Given the description of an element on the screen output the (x, y) to click on. 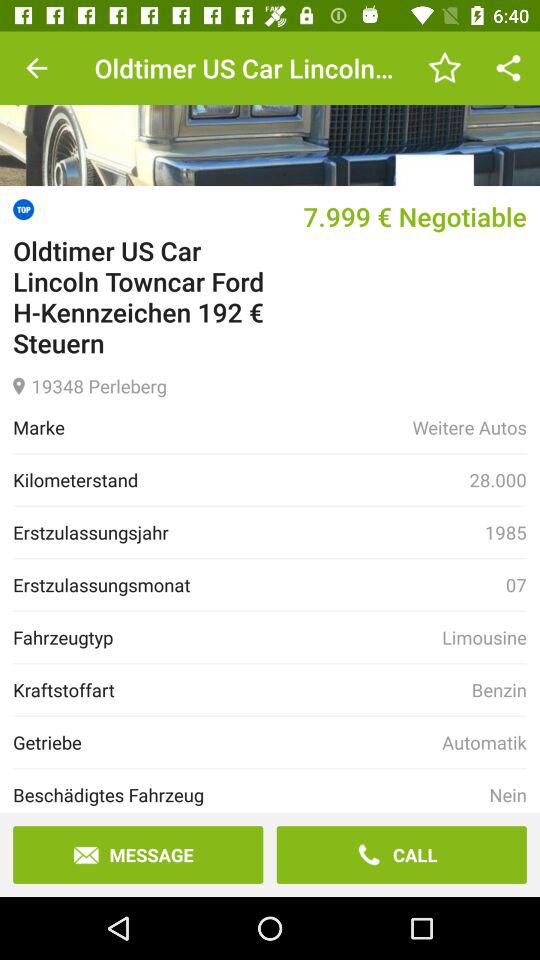
choose the item to the right of the getriebe (484, 742)
